Given the description of an element on the screen output the (x, y) to click on. 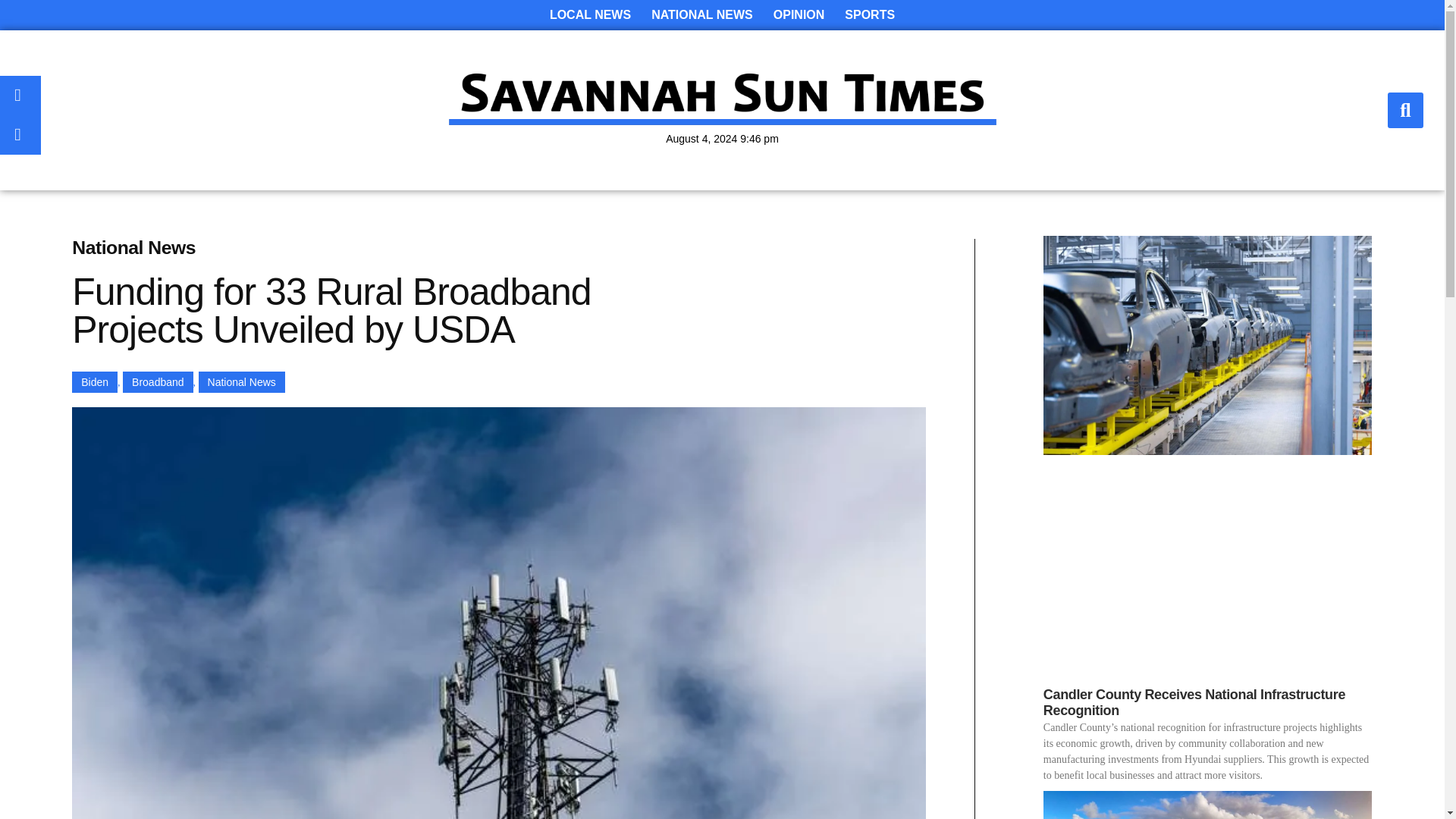
LOCAL NEWS (590, 15)
SPORTS (869, 15)
Candler County Receives National Infrastructure Recognition (1194, 703)
NATIONAL NEWS (701, 15)
OPINION (798, 15)
National News (241, 382)
Broadband (157, 382)
Biden (94, 382)
